Given the description of an element on the screen output the (x, y) to click on. 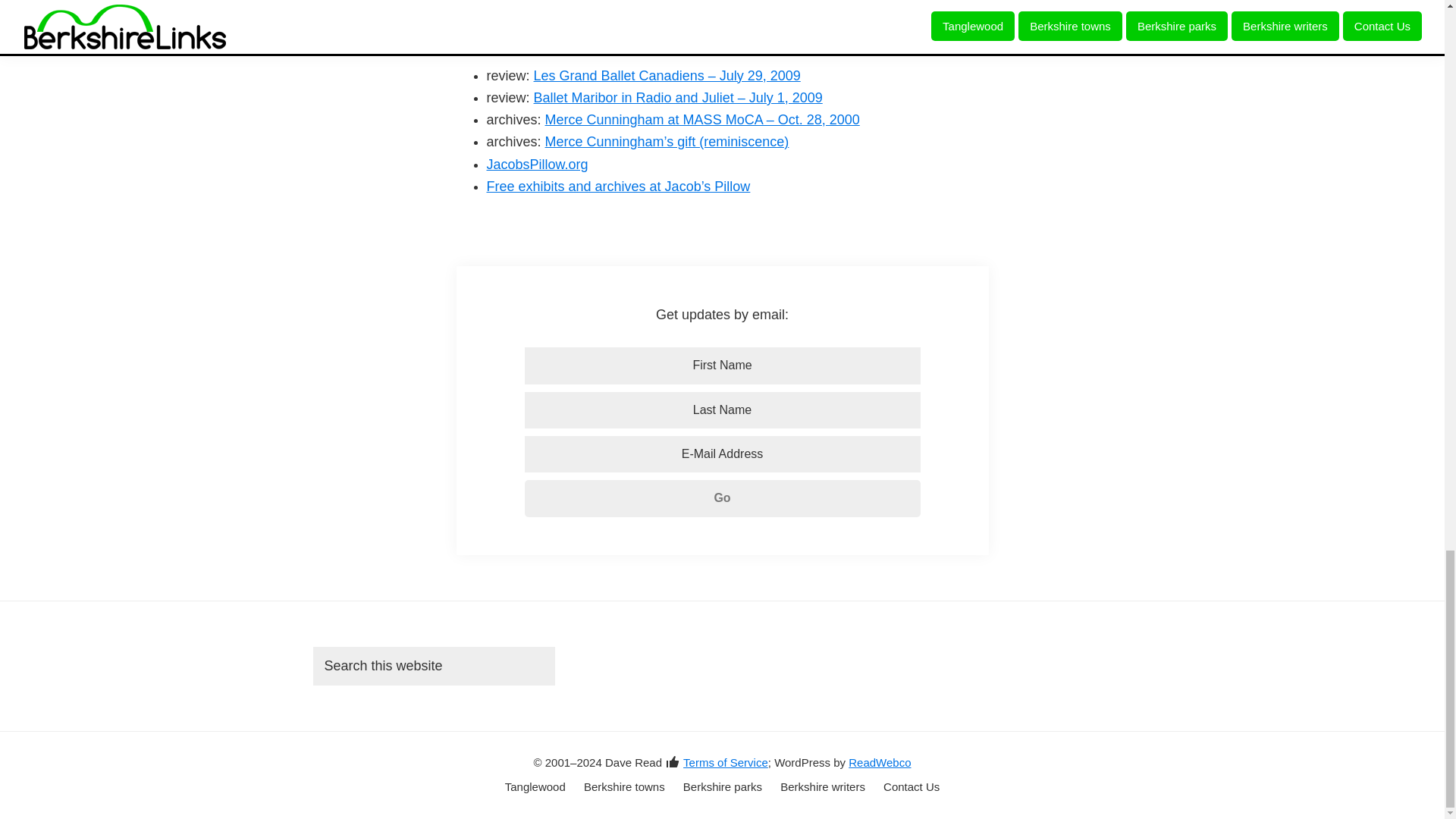
Contact Us (911, 787)
Go (722, 497)
JacobsPillow.org (537, 163)
Go (722, 497)
Berkshire towns (624, 787)
ReadWebco (879, 761)
Berkshire parks (721, 787)
Berkshire writers (822, 787)
Tanglewood (535, 787)
Terms of Service (725, 761)
